Given the description of an element on the screen output the (x, y) to click on. 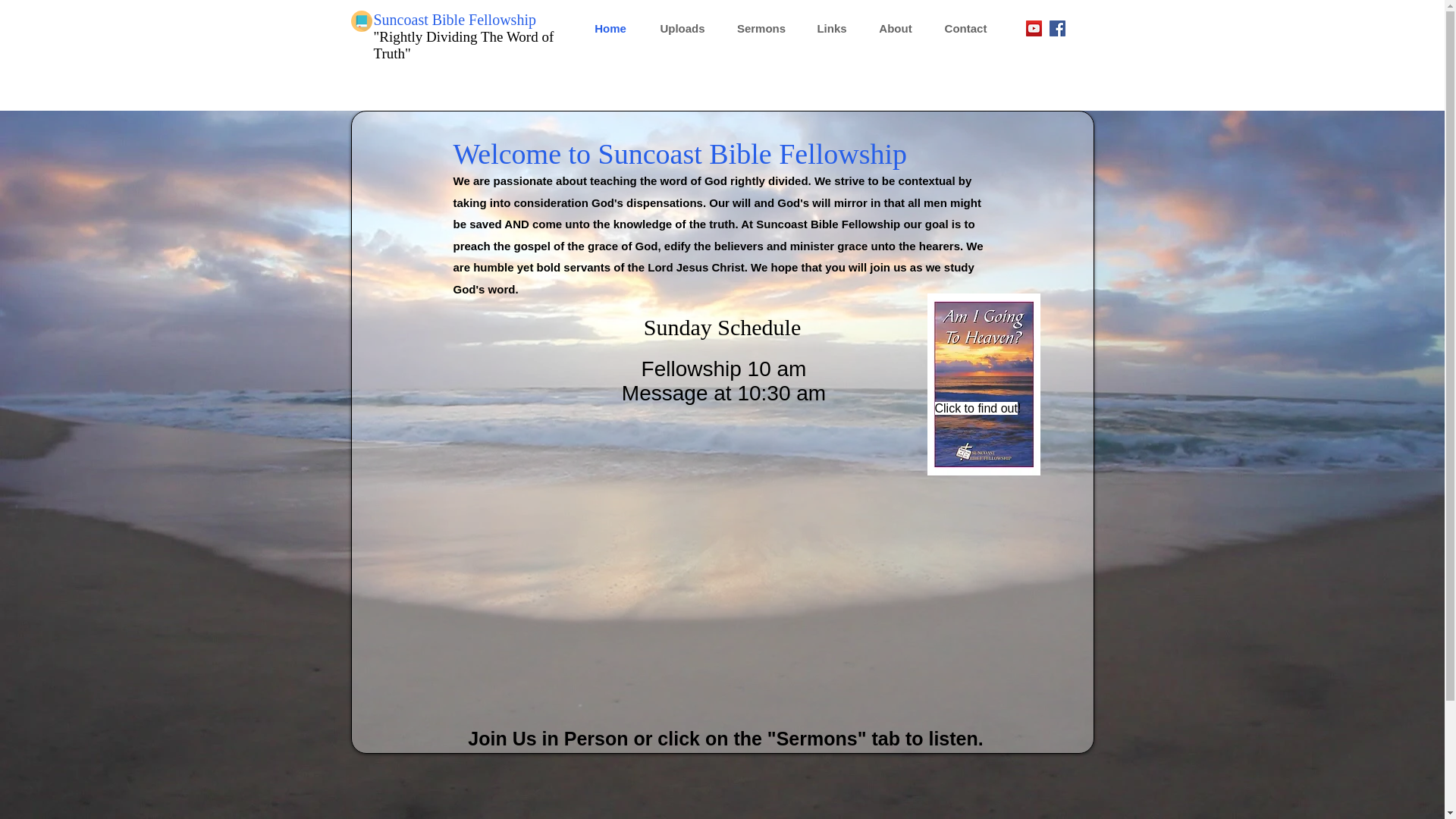
Home (610, 28)
Contact (965, 28)
Suncoast Bible Fellowship (453, 19)
About (895, 28)
Uploads (681, 28)
